Given the description of an element on the screen output the (x, y) to click on. 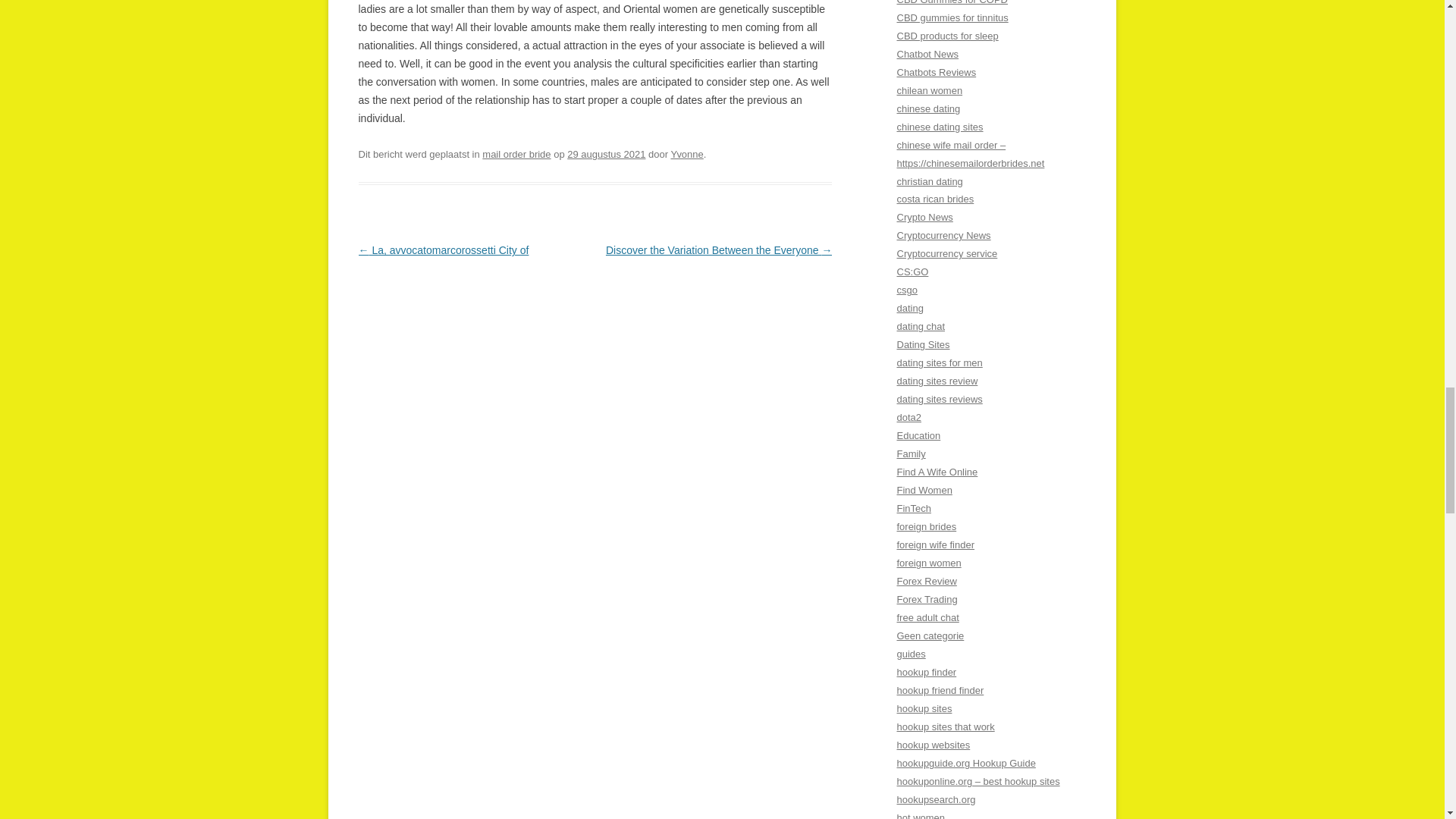
mail order bride (515, 153)
Alle berichten tonen van Yvonne (686, 153)
Yvonne (686, 153)
01:00 (606, 153)
29 augustus 2021 (606, 153)
